Given the description of an element on the screen output the (x, y) to click on. 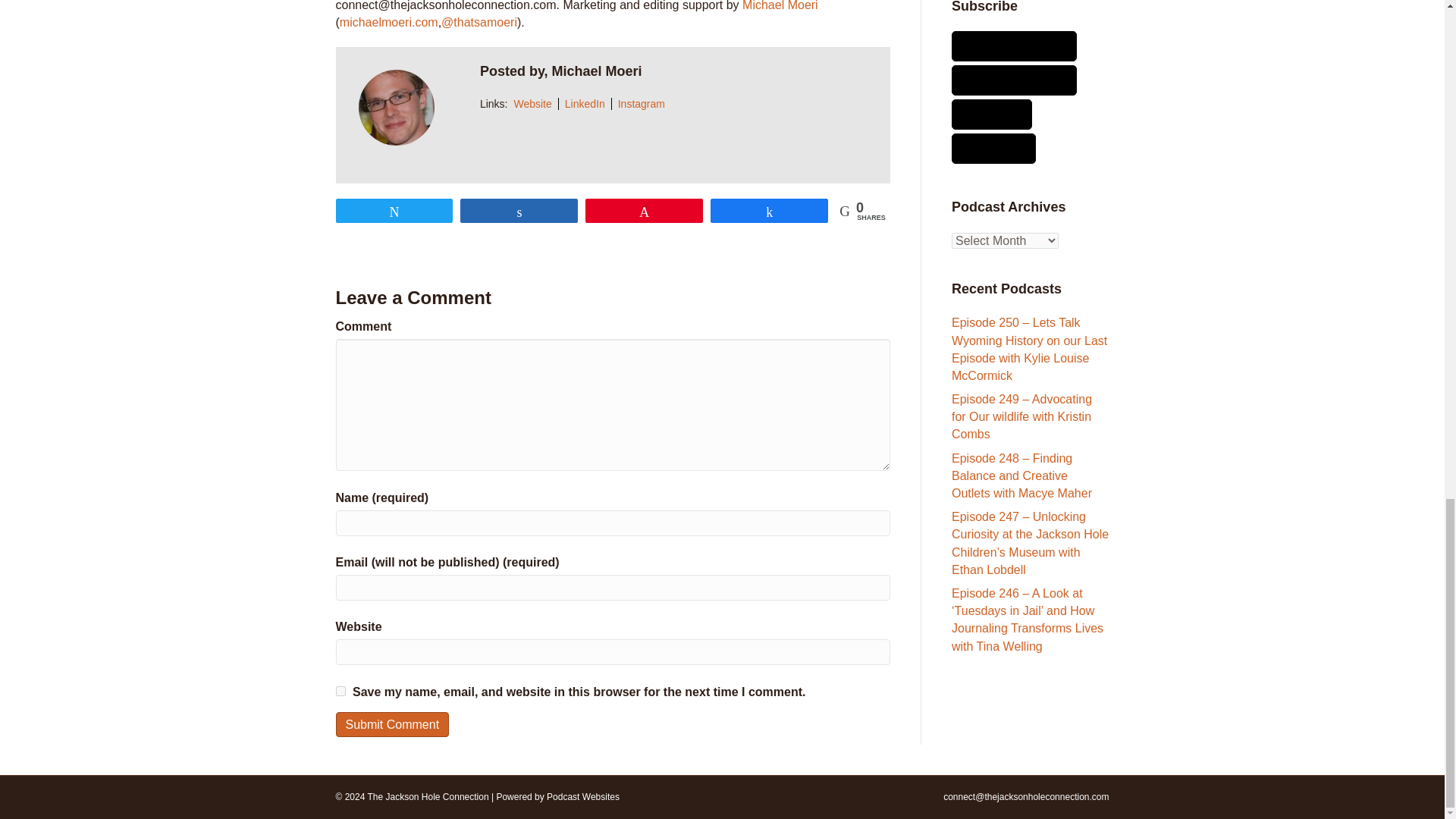
yes (339, 691)
Michael Moeri (778, 5)
michaelmoeri.com (388, 21)
Podcast Websites (583, 796)
Submit Comment (391, 724)
Website (531, 103)
